Given the description of an element on the screen output the (x, y) to click on. 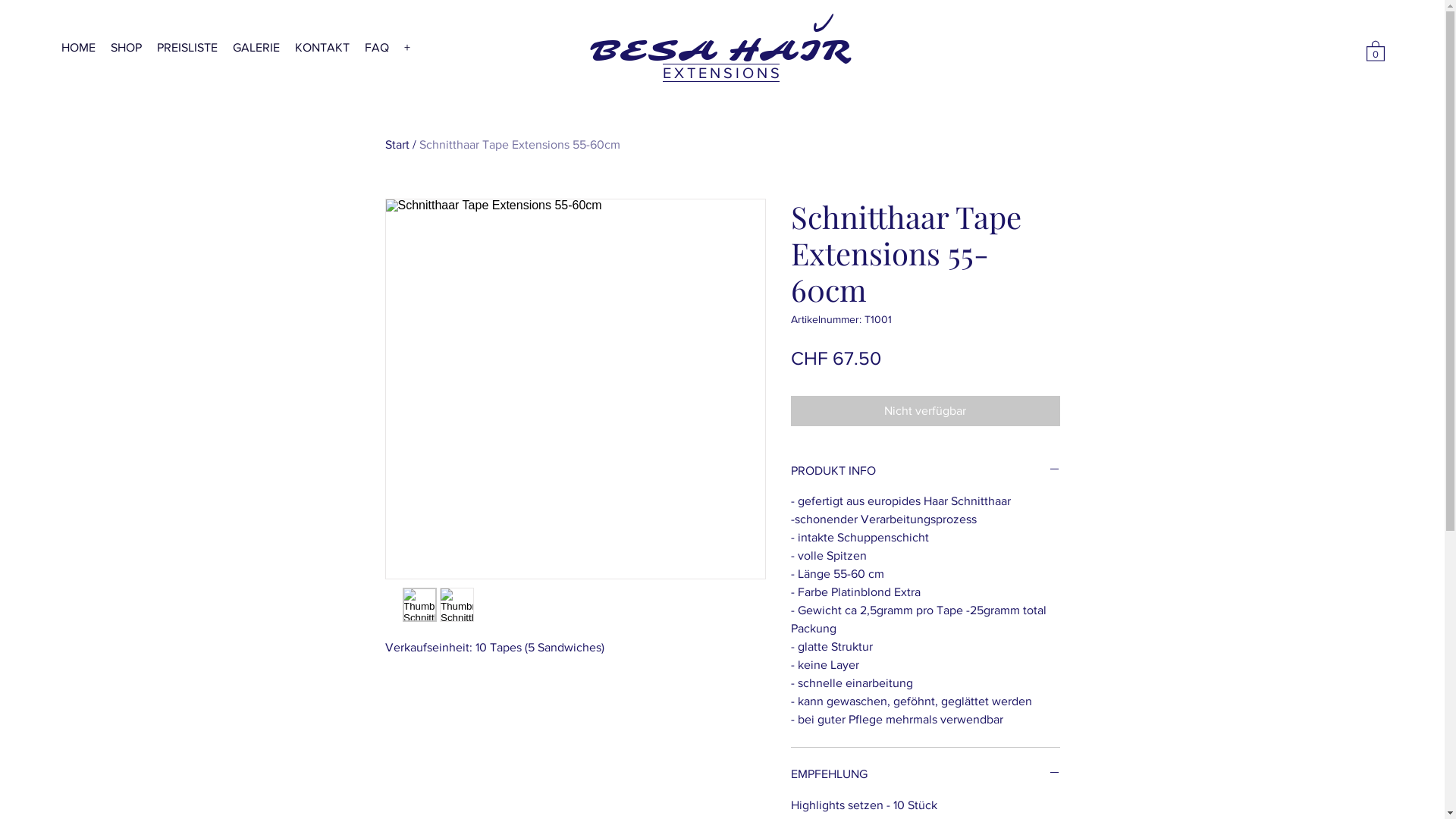
SHOP Element type: text (126, 47)
EMPFEHLUNG Element type: text (924, 773)
KONTAKT Element type: text (322, 47)
0 Element type: text (1375, 50)
Schnitthaar Tape Extensions 55-60cm Element type: text (518, 144)
FAQ Element type: text (376, 47)
Start Element type: text (397, 144)
BESA HAIR Element type: text (720, 50)
GALERIE Element type: text (256, 47)
HOME Element type: text (78, 47)
PREISLISTE Element type: text (187, 47)
EXTENSIONS Element type: text (722, 72)
PRODUKT INFO Element type: text (924, 470)
